Given the description of an element on the screen output the (x, y) to click on. 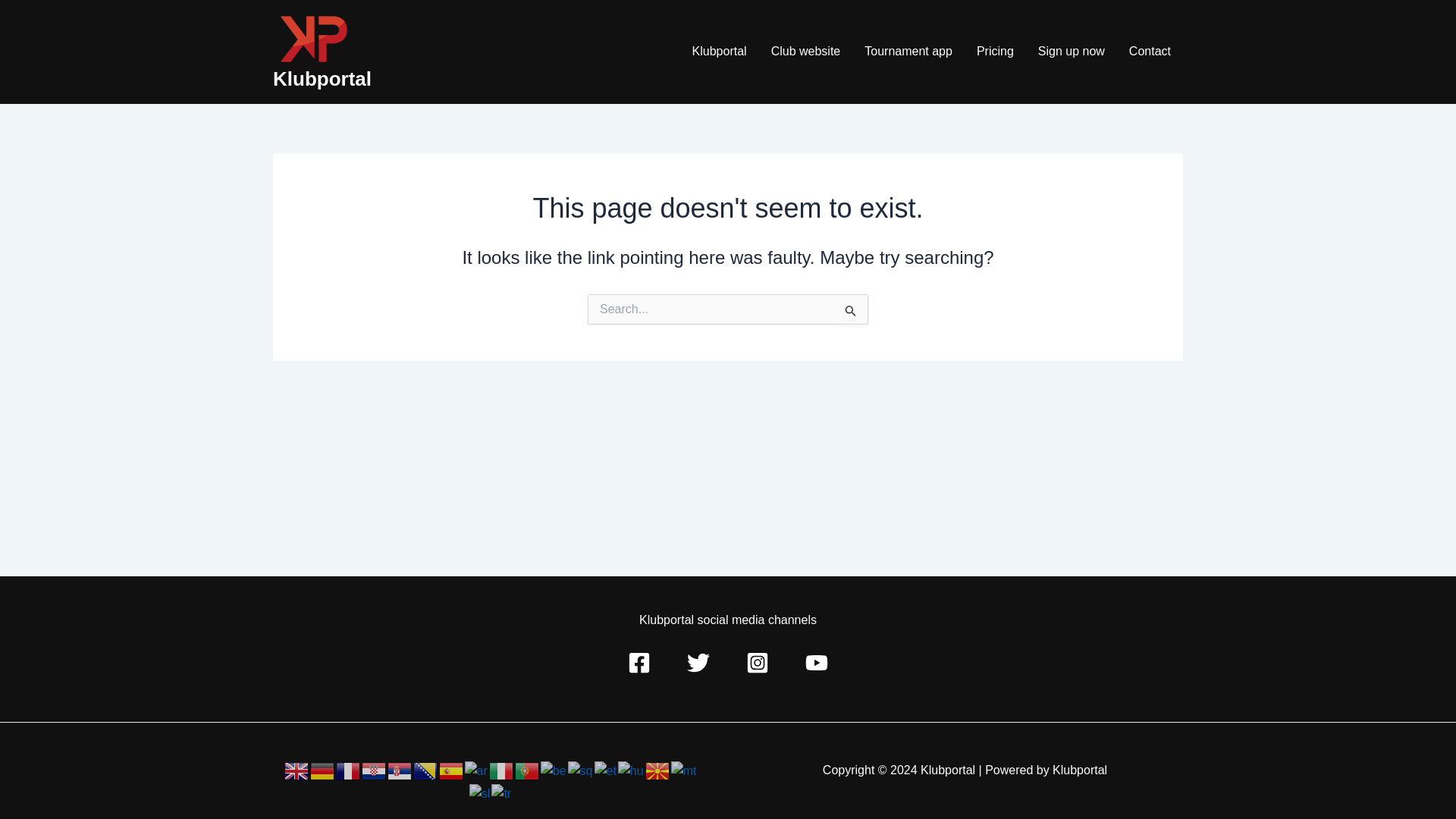
Search (850, 309)
Magyar (631, 769)
Search (850, 309)
Bosanski (426, 769)
Italiano (502, 769)
Klubportal (322, 78)
Klubportal (718, 51)
Tournament app (907, 51)
Search (850, 309)
Hrvatski (374, 769)
Club website (805, 51)
Shqip (580, 769)
Sign up now (1071, 51)
English (296, 769)
Eesti (605, 769)
